Given the description of an element on the screen output the (x, y) to click on. 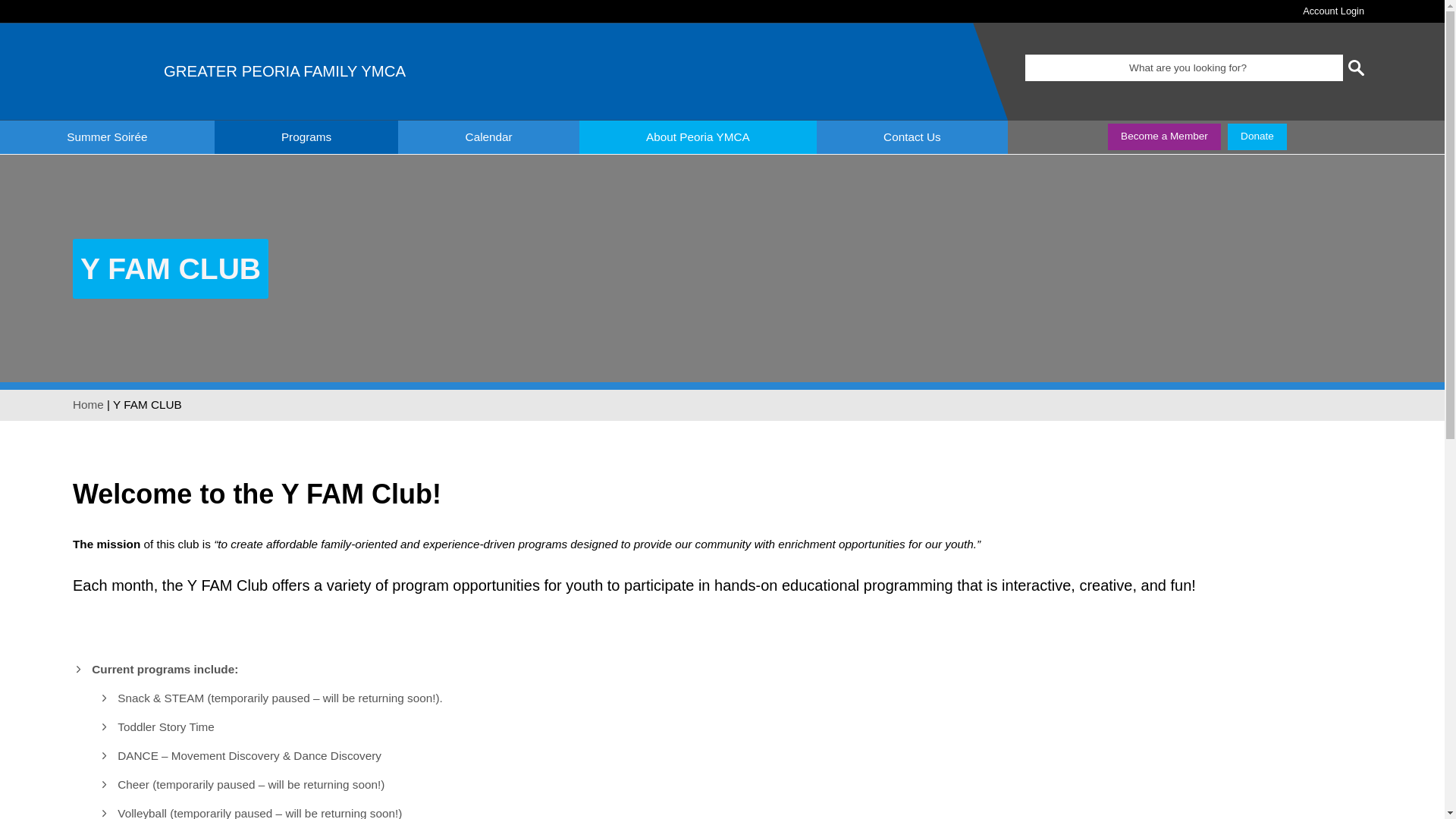
Account Login (1333, 11)
What are you looking for? (1183, 67)
Programs (306, 136)
What are you looking for? (1183, 67)
